Given the description of an element on the screen output the (x, y) to click on. 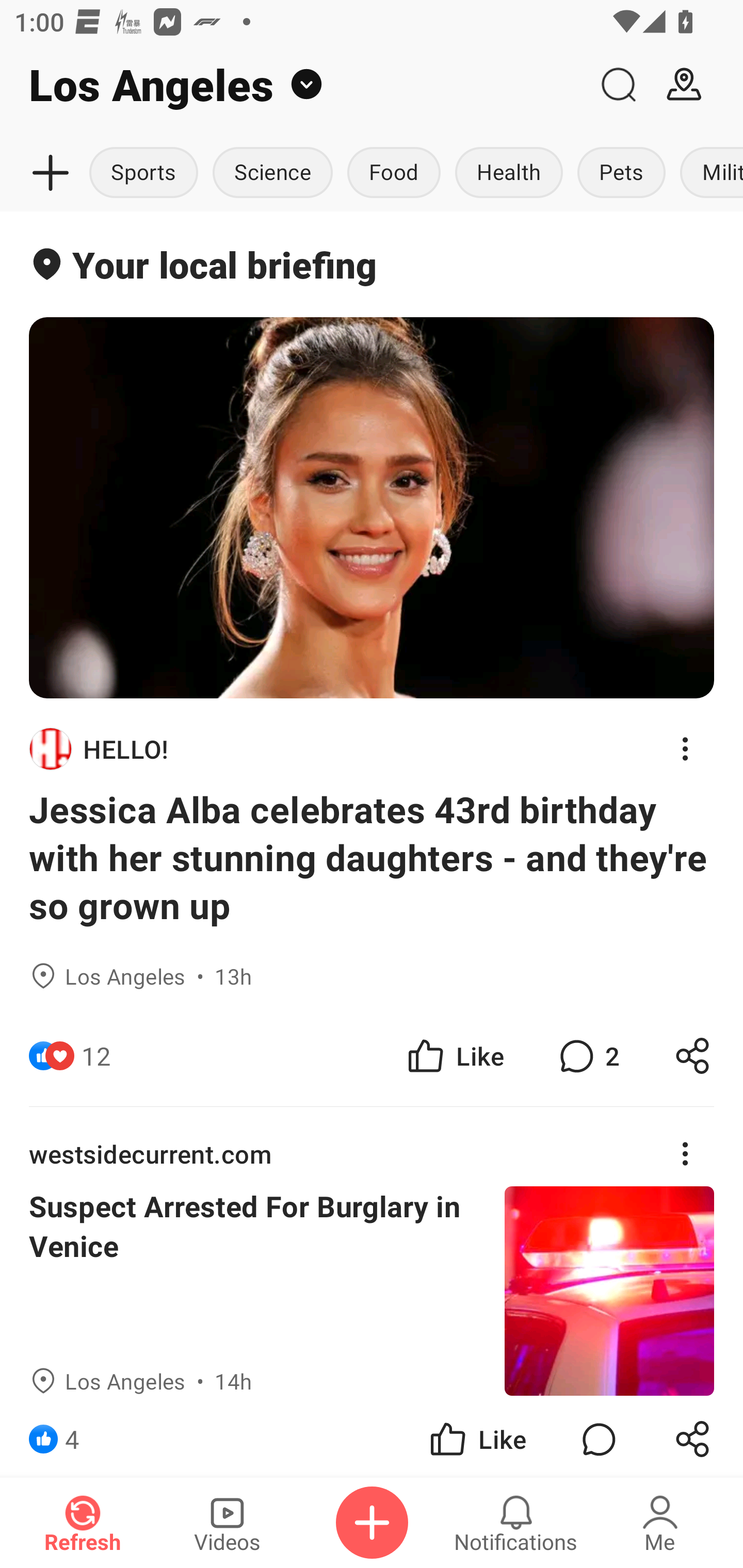
Los Angeles (292, 84)
Sports (145, 172)
Science (272, 172)
Food (394, 172)
Health (508, 172)
Pets (621, 172)
12 (95, 1055)
Like (454, 1055)
2 (587, 1055)
4 (72, 1436)
Like (476, 1436)
Videos (227, 1522)
Notifications (516, 1522)
Me (659, 1522)
